Given the description of an element on the screen output the (x, y) to click on. 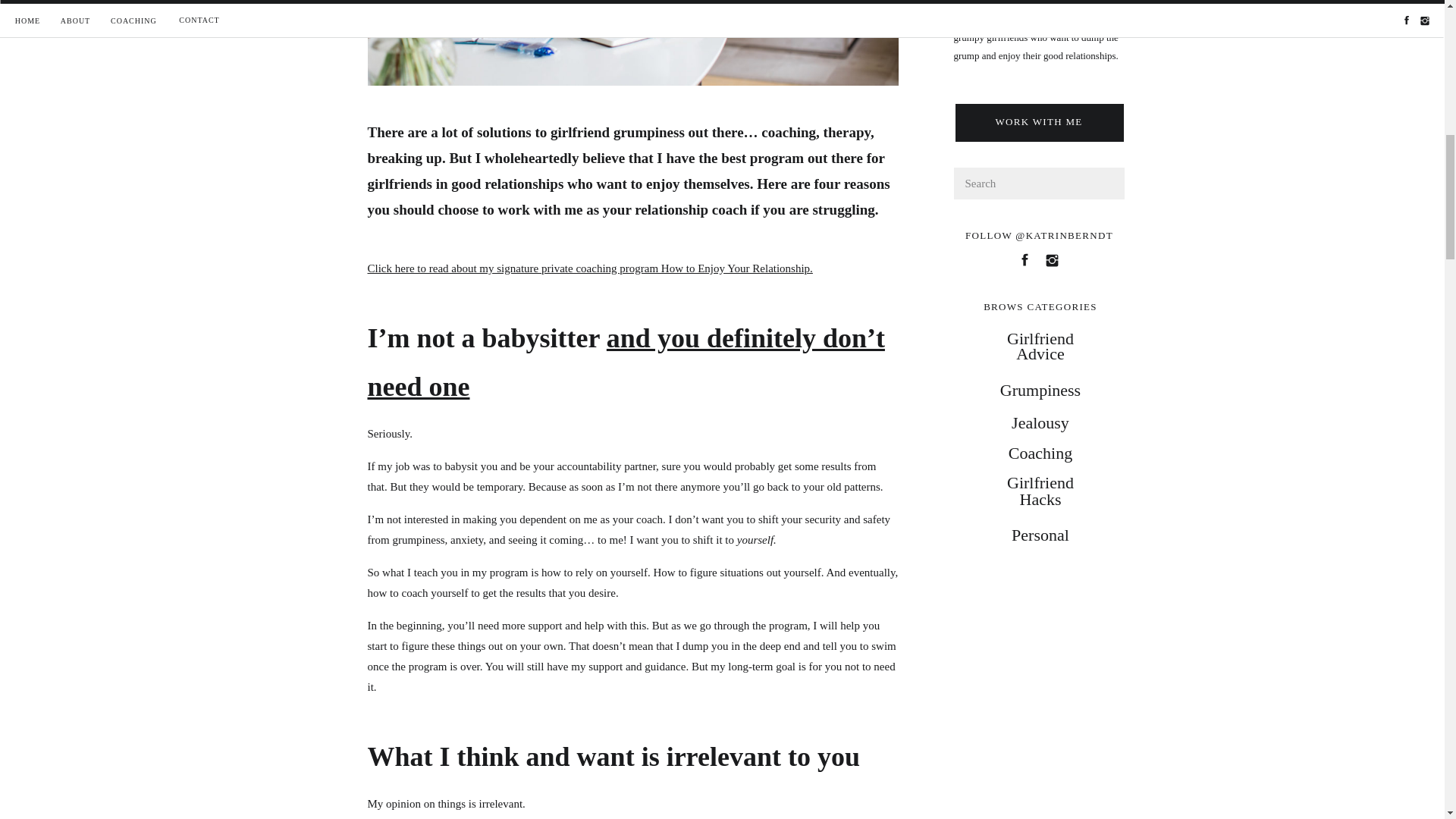
WORK WITH ME (1038, 124)
Personal (1040, 535)
Girlfriend Advice (1040, 347)
Grumpiness (1040, 387)
Girlfriend Hacks (1040, 491)
Jealousy (1040, 418)
Coaching (1040, 450)
